Given the description of an element on the screen output the (x, y) to click on. 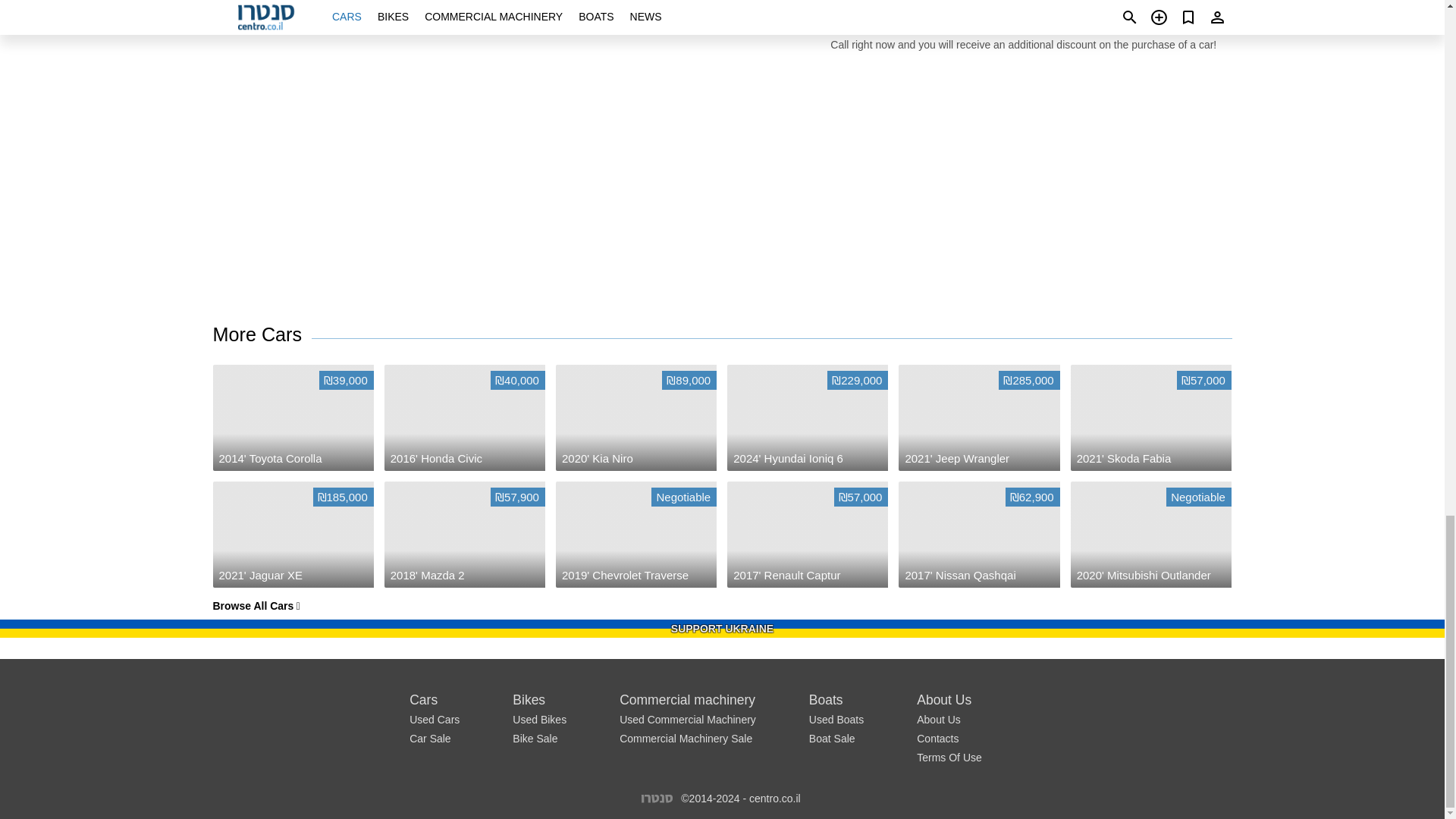
Bike Sale (534, 738)
Used Cars (434, 719)
Used Boats (636, 534)
Used Bikes (836, 719)
Boat Sale (539, 719)
About Us (832, 738)
centro.co.il - Israel (938, 719)
More Cars (657, 797)
Browse All Cars (261, 335)
